Given the description of an element on the screen output the (x, y) to click on. 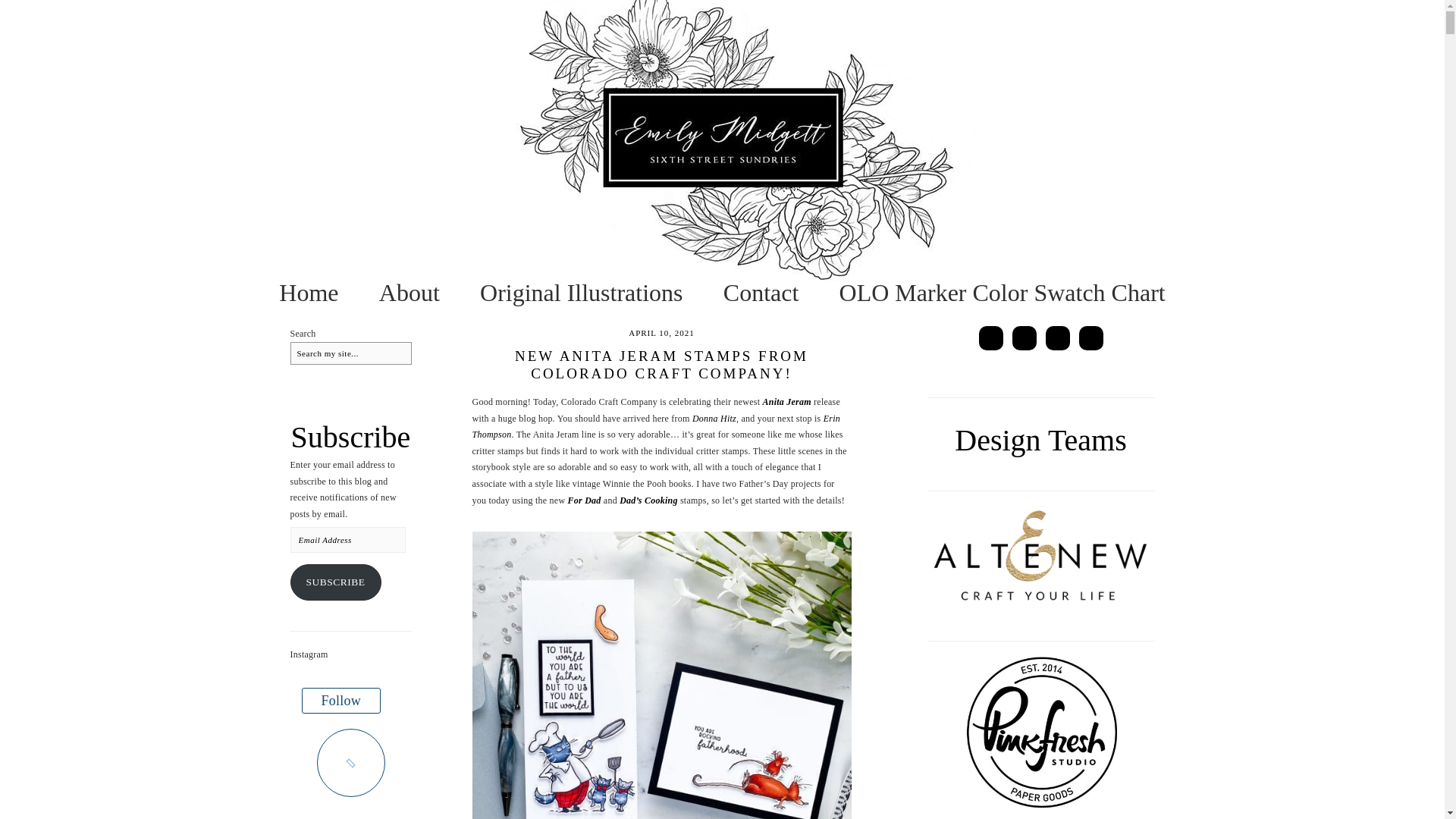
Erin Thompson (655, 426)
OLO Marker Color Swatch Chart (1003, 292)
Original Illustrations (581, 292)
Home (308, 292)
Anita Jeram (786, 401)
For Dad (584, 500)
About (408, 292)
Donna Hitz (714, 418)
